Given the description of an element on the screen output the (x, y) to click on. 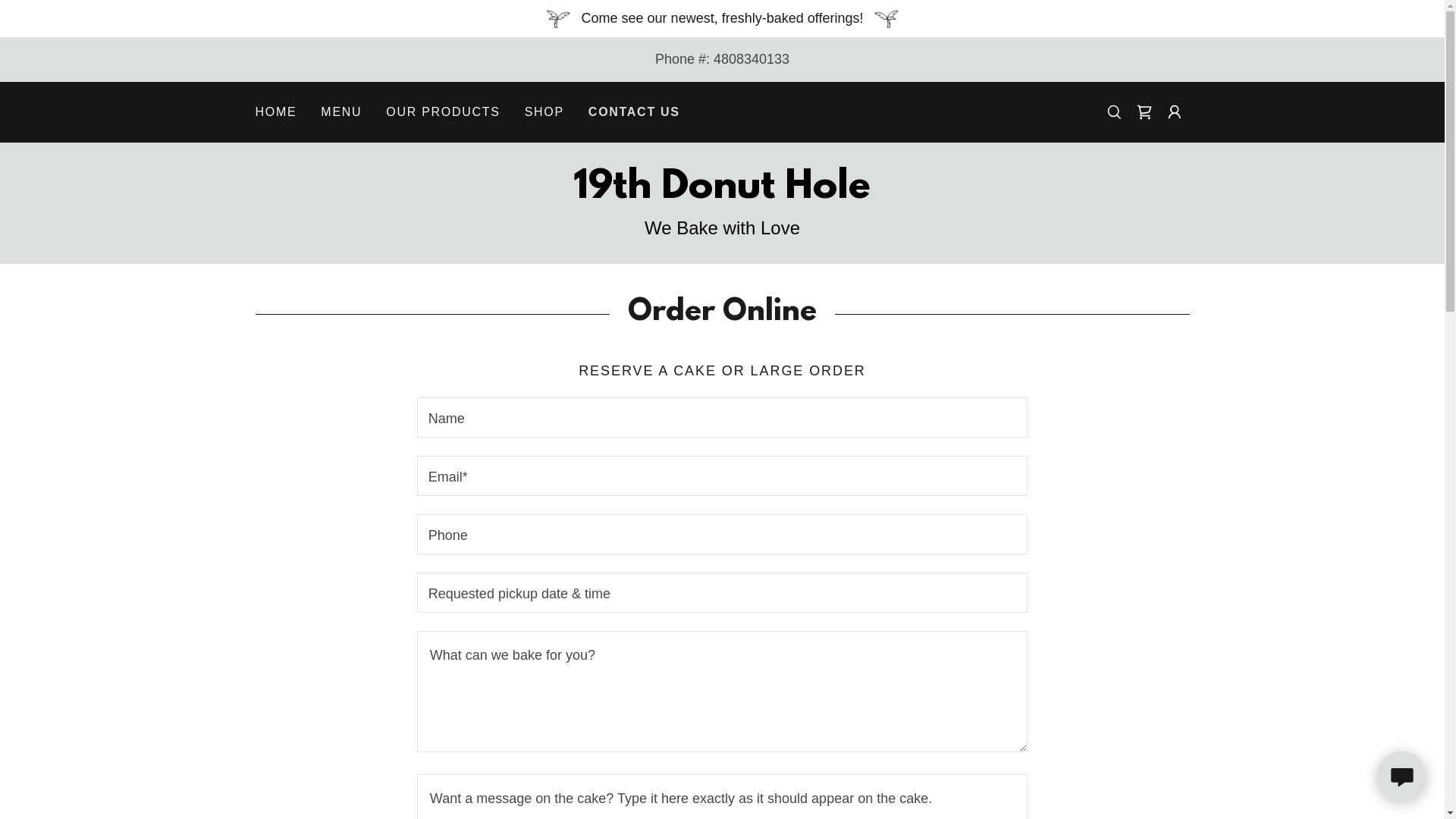
OUR PRODUCTS Element type: text (442, 111)
HOME Element type: text (275, 111)
MENU Element type: text (341, 111)
4808340133 Element type: text (751, 58)
CONTACT US Element type: text (634, 112)
19th Donut Hole Element type: text (721, 192)
SHOP Element type: text (544, 111)
